Given the description of an element on the screen output the (x, y) to click on. 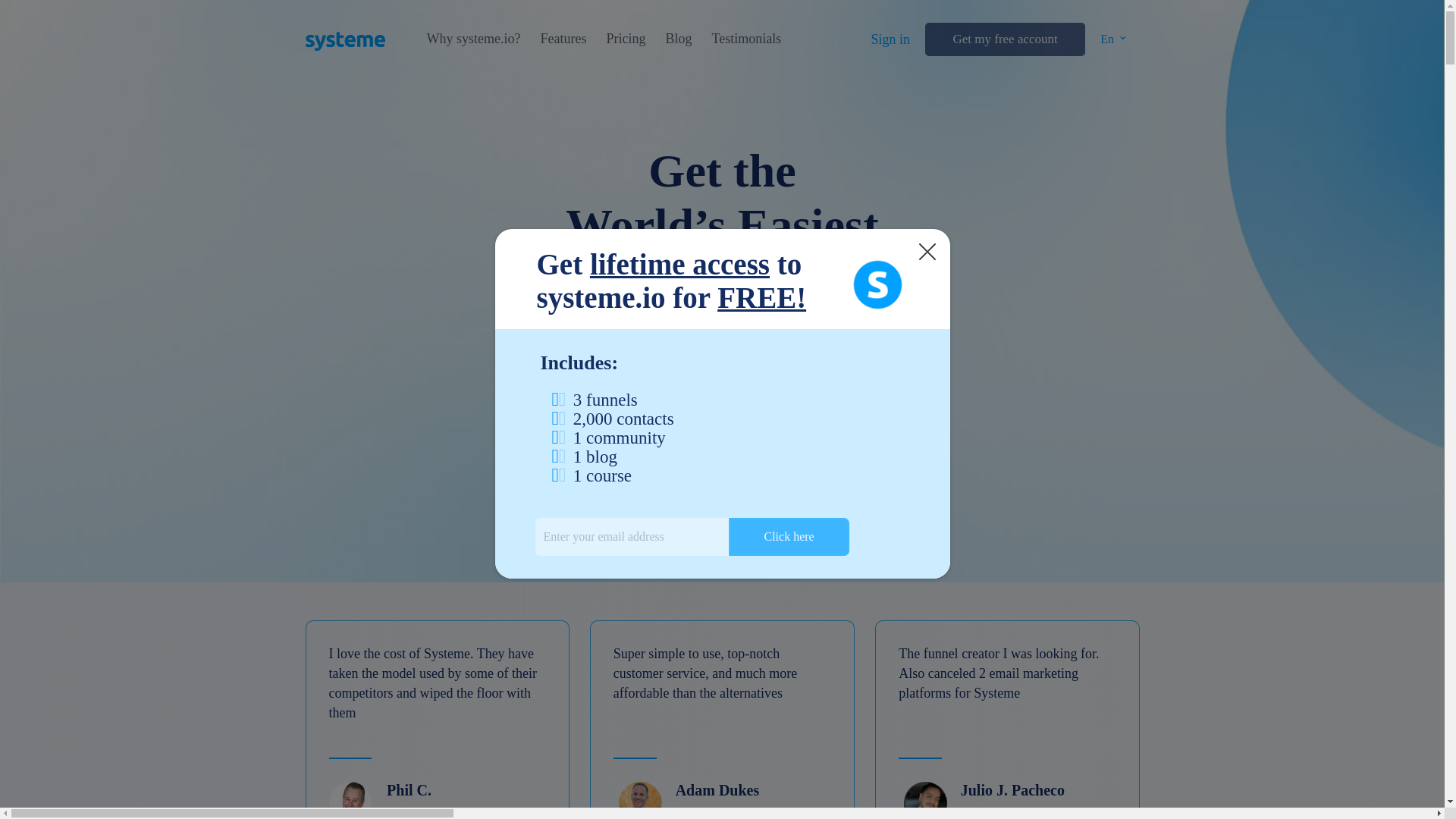
Sign in (1453, 53)
Features (563, 38)
Sign in (890, 39)
Features (1453, 77)
Why systeme.io? (1453, 53)
Why systeme.io? (472, 38)
Testimonials (1453, 125)
Pricing (625, 38)
Pricing (1453, 93)
Blog (1453, 109)
Get my free account (1004, 39)
Blog (678, 38)
Testimonials (745, 38)
